Given the description of an element on the screen output the (x, y) to click on. 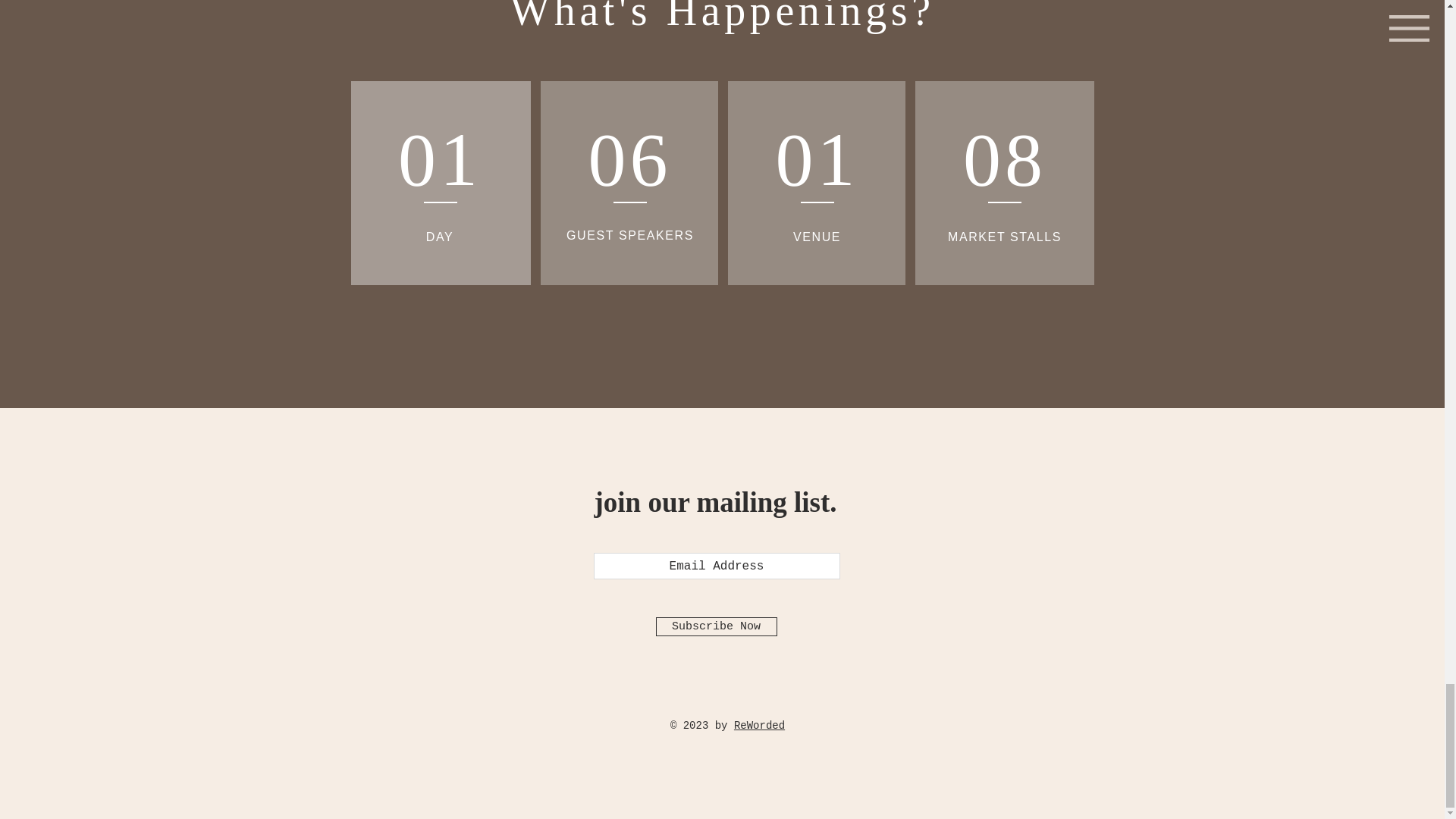
ReWorded (758, 725)
Subscribe Now (715, 626)
